Given the description of an element on the screen output the (x, y) to click on. 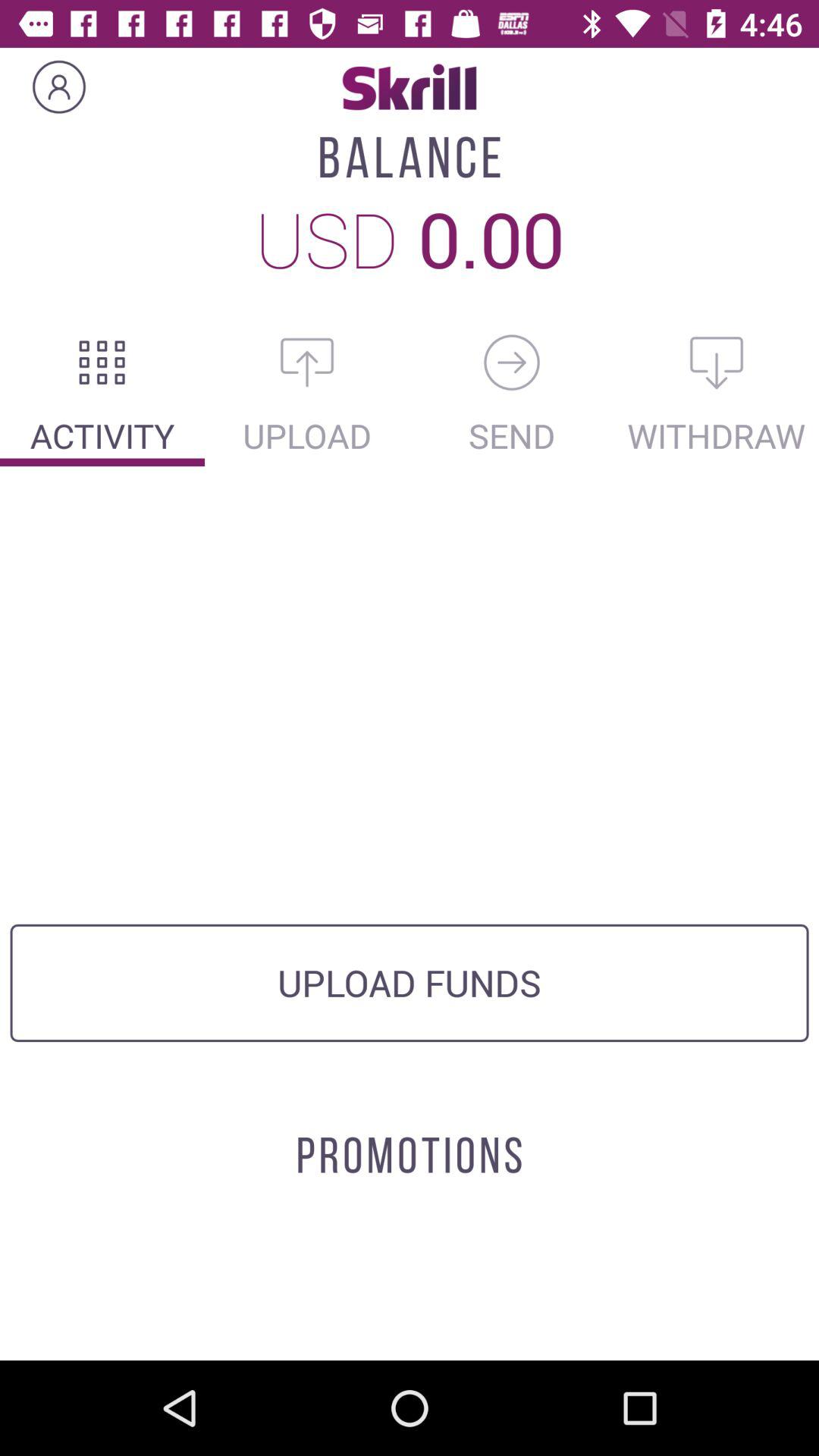
select withdraw (716, 362)
